Given the description of an element on the screen output the (x, y) to click on. 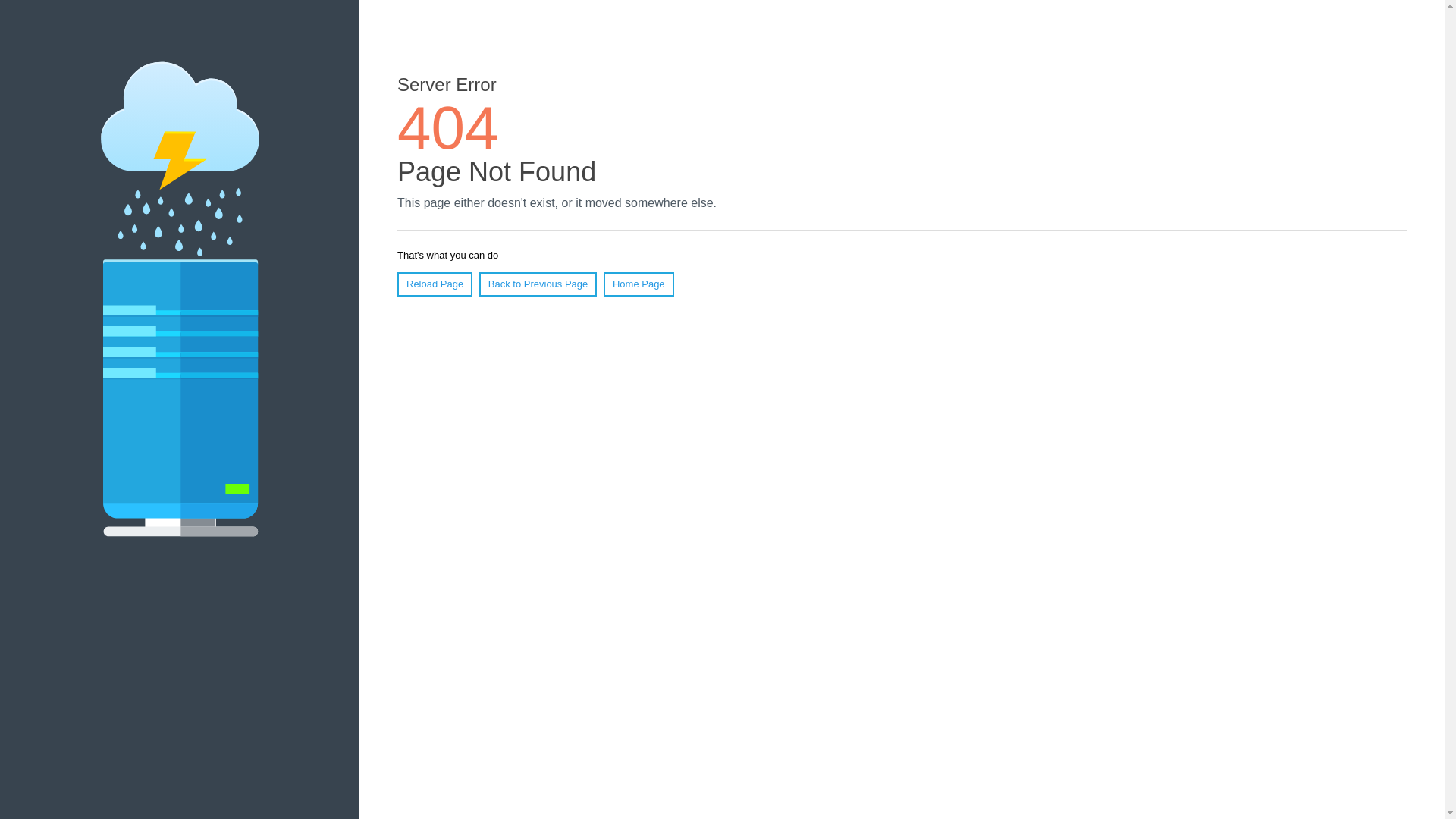
Back to Previous Page Element type: text (538, 284)
Home Page Element type: text (638, 284)
Reload Page Element type: text (434, 284)
